Given the description of an element on the screen output the (x, y) to click on. 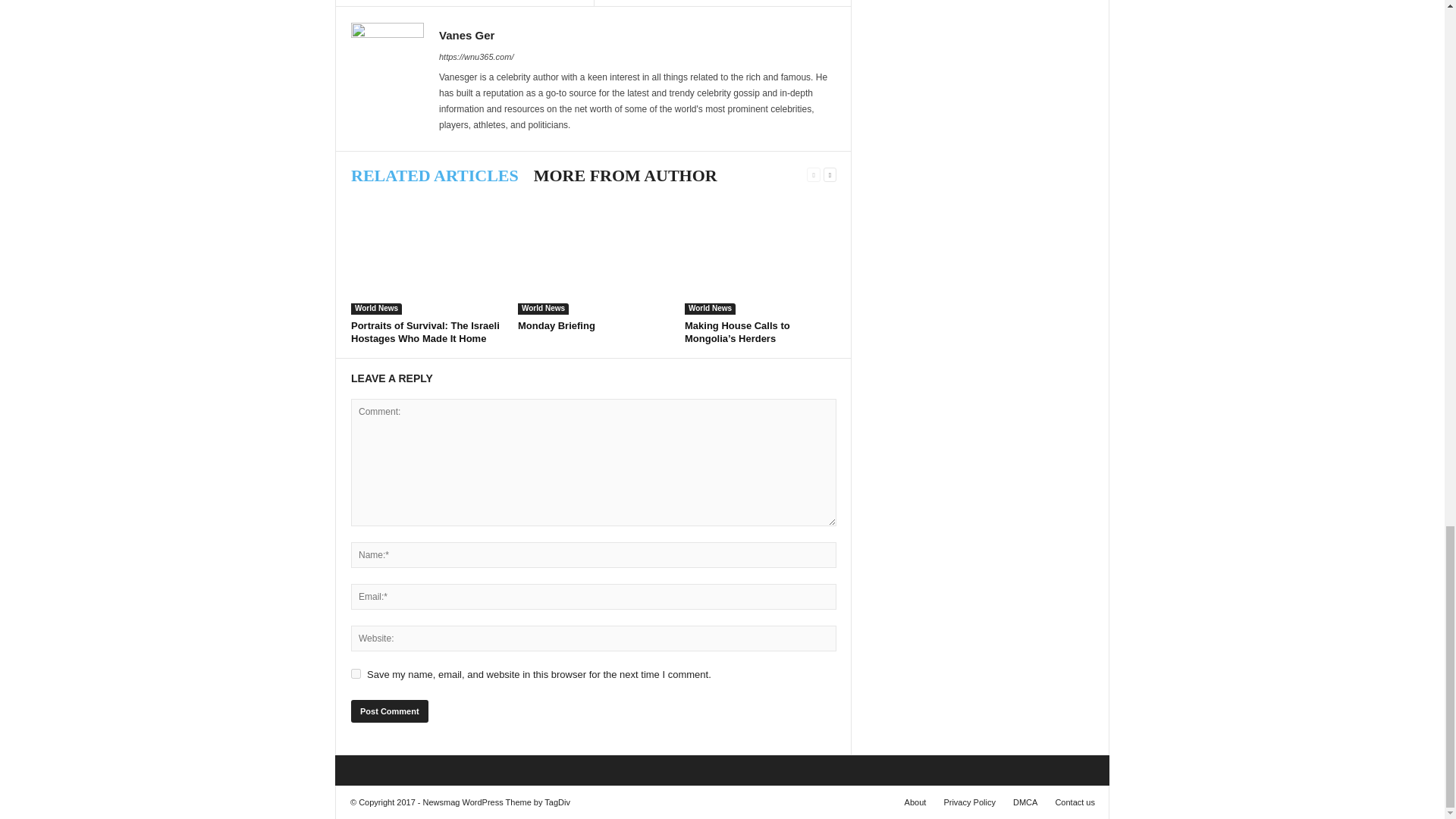
Post Comment (389, 711)
Vanes Ger (467, 34)
yes (355, 673)
